Given the description of an element on the screen output the (x, y) to click on. 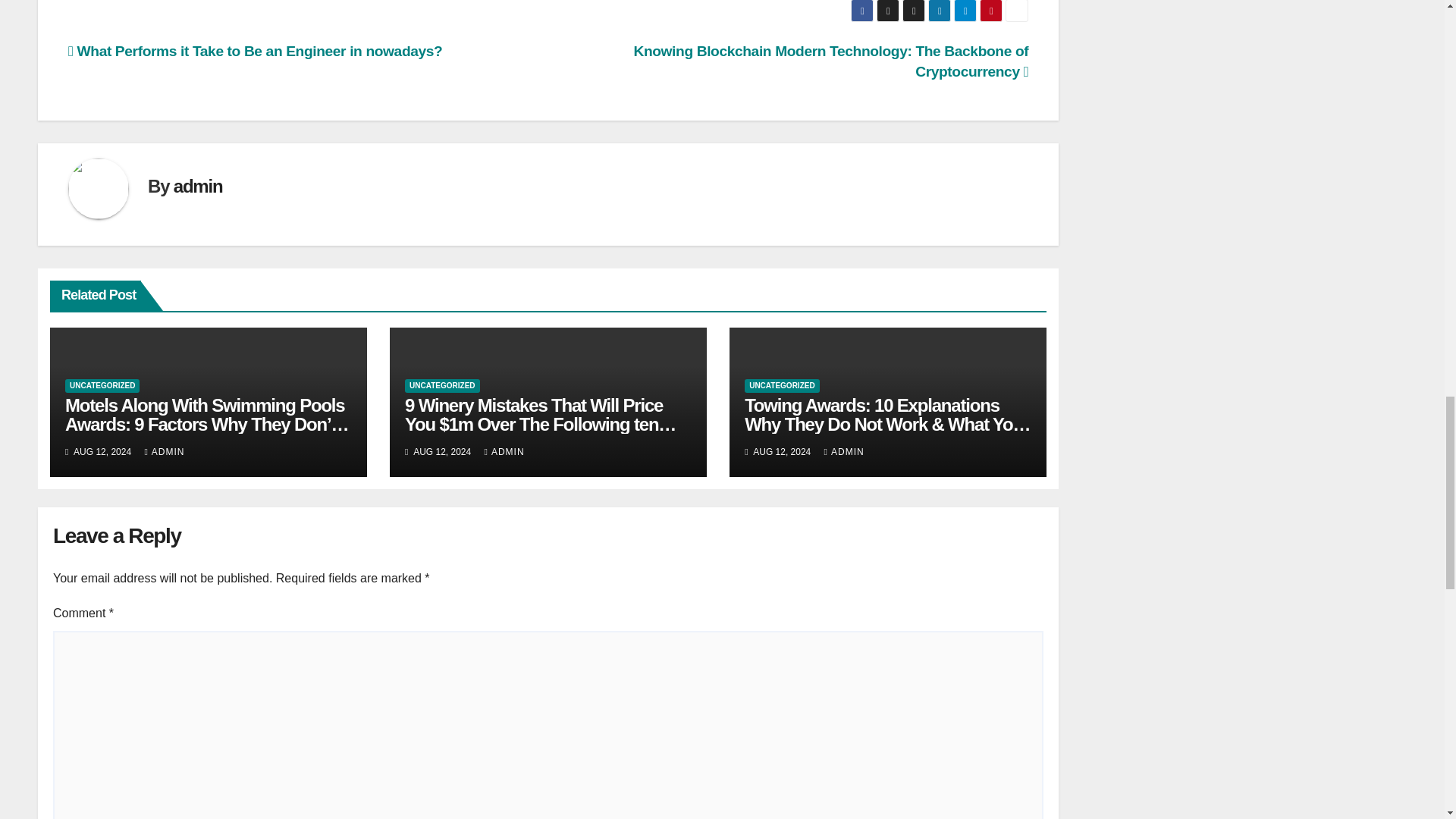
UNCATEGORIZED (781, 386)
ADMIN (504, 451)
What Performs it Take to Be an Engineer in nowadays? (255, 50)
UNCATEGORIZED (441, 386)
admin (197, 186)
ADMIN (164, 451)
ADMIN (844, 451)
UNCATEGORIZED (102, 386)
